Given the description of an element on the screen output the (x, y) to click on. 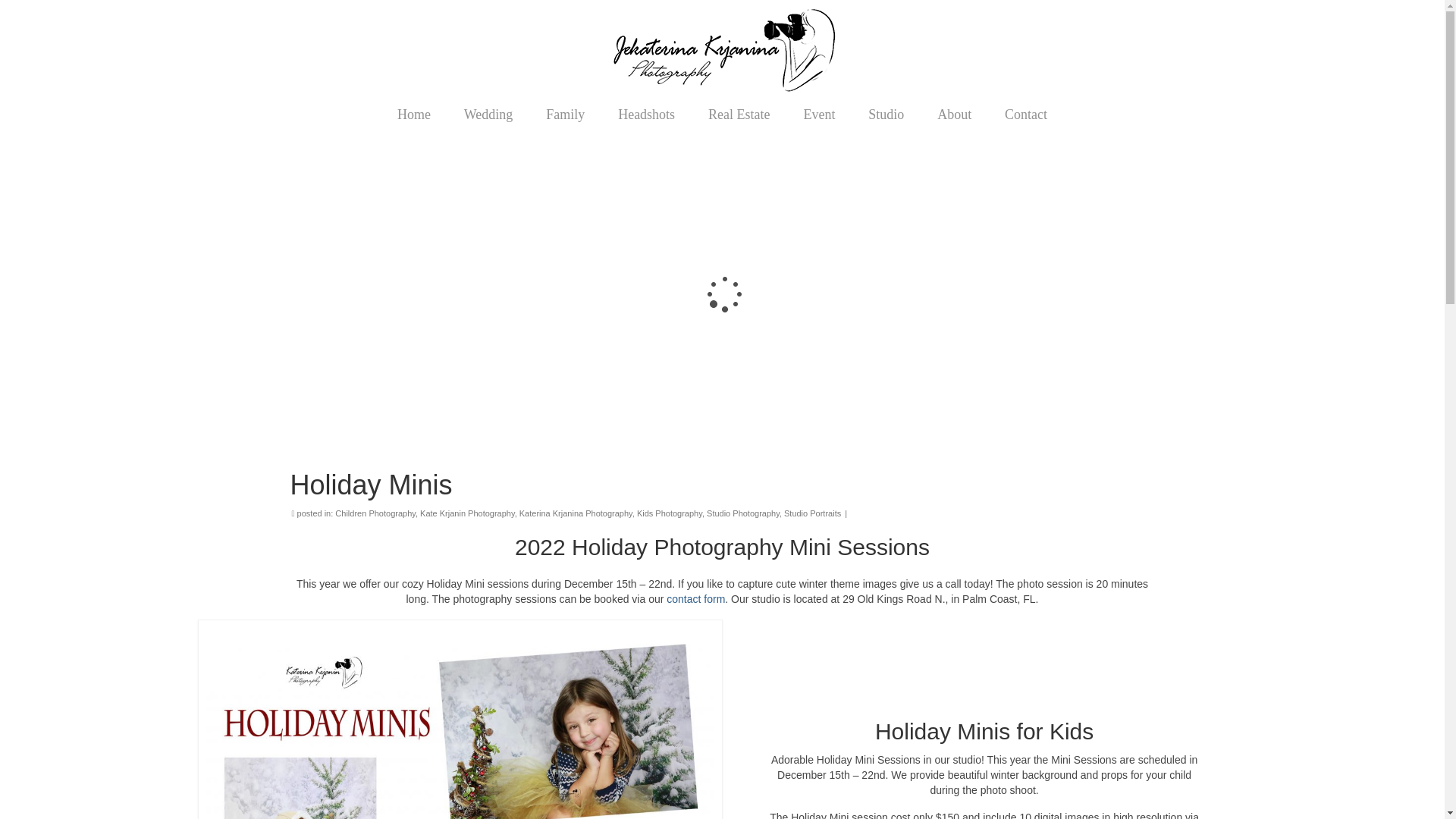
Family (565, 113)
Home (413, 113)
Studio (885, 113)
Headshots (646, 113)
Katerina Krjanina Photography (724, 49)
Contact (1026, 113)
Real Estate (738, 113)
Event (818, 113)
About (954, 113)
Wedding (488, 113)
